Given the description of an element on the screen output the (x, y) to click on. 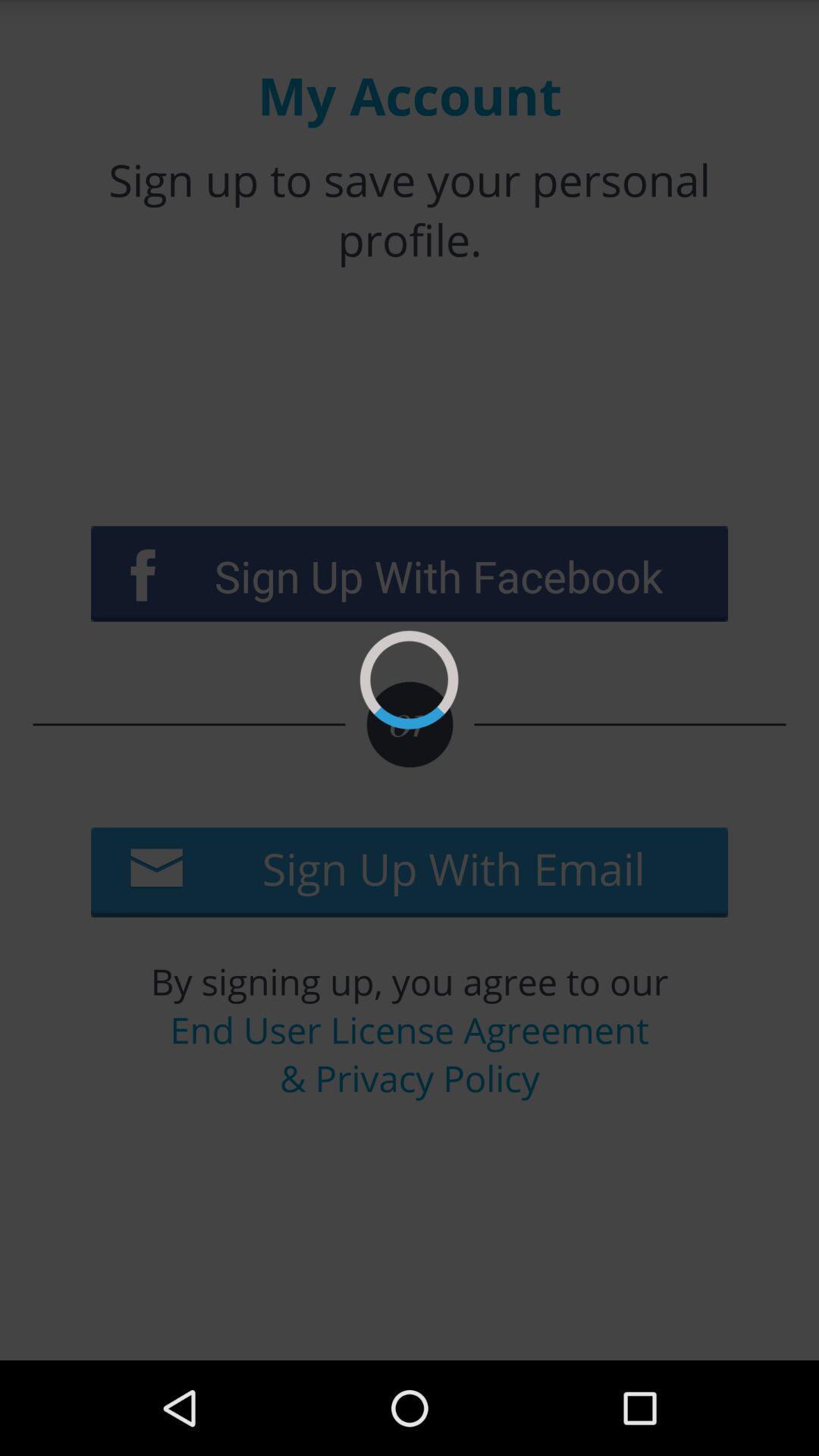
press the end user license icon (409, 1053)
